Given the description of an element on the screen output the (x, y) to click on. 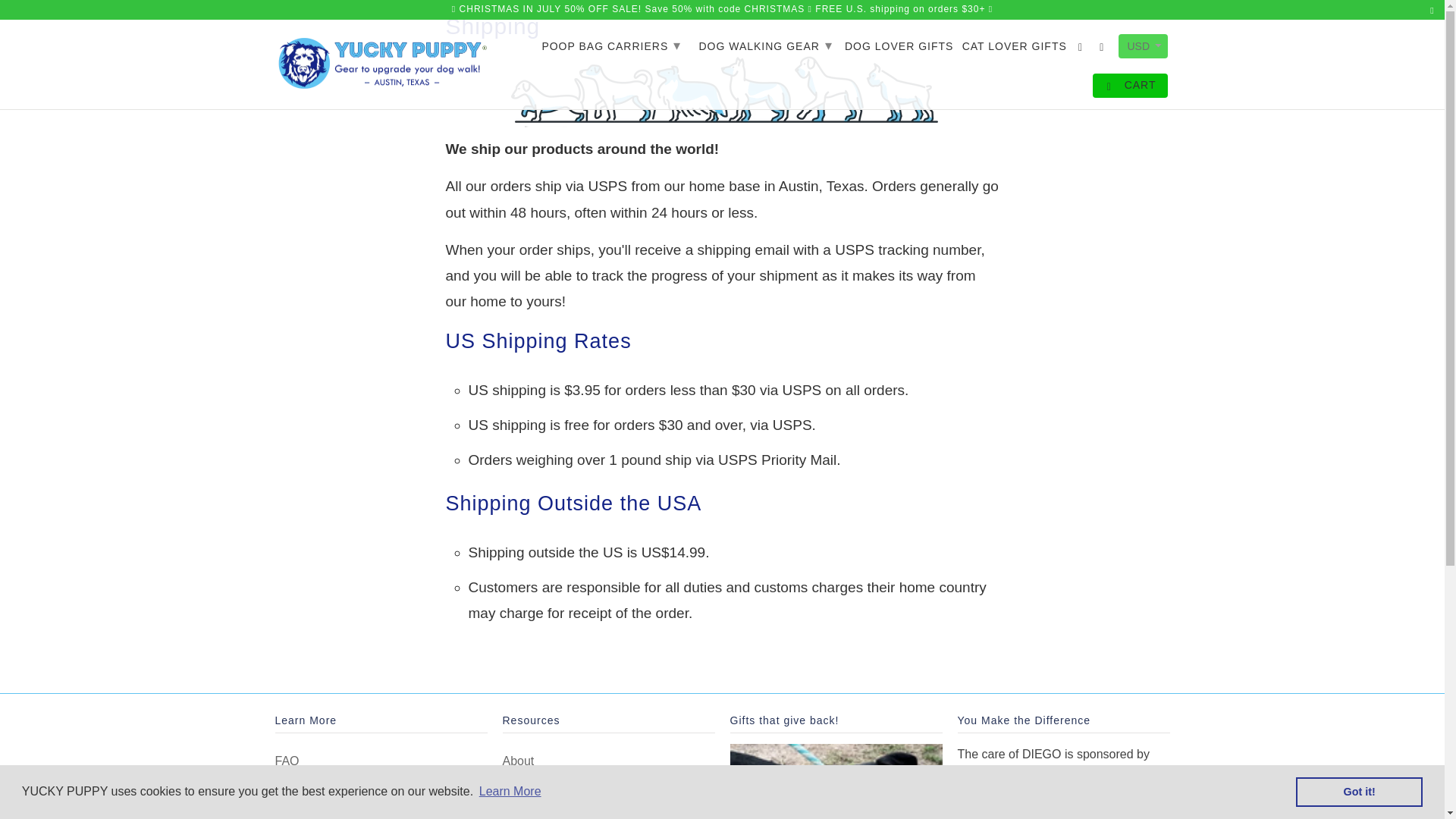
Got it! (1358, 791)
Privacy Policy (312, 794)
Learn More (510, 791)
FAQ (286, 760)
YUCKY PUPPY (380, 60)
